Given the description of an element on the screen output the (x, y) to click on. 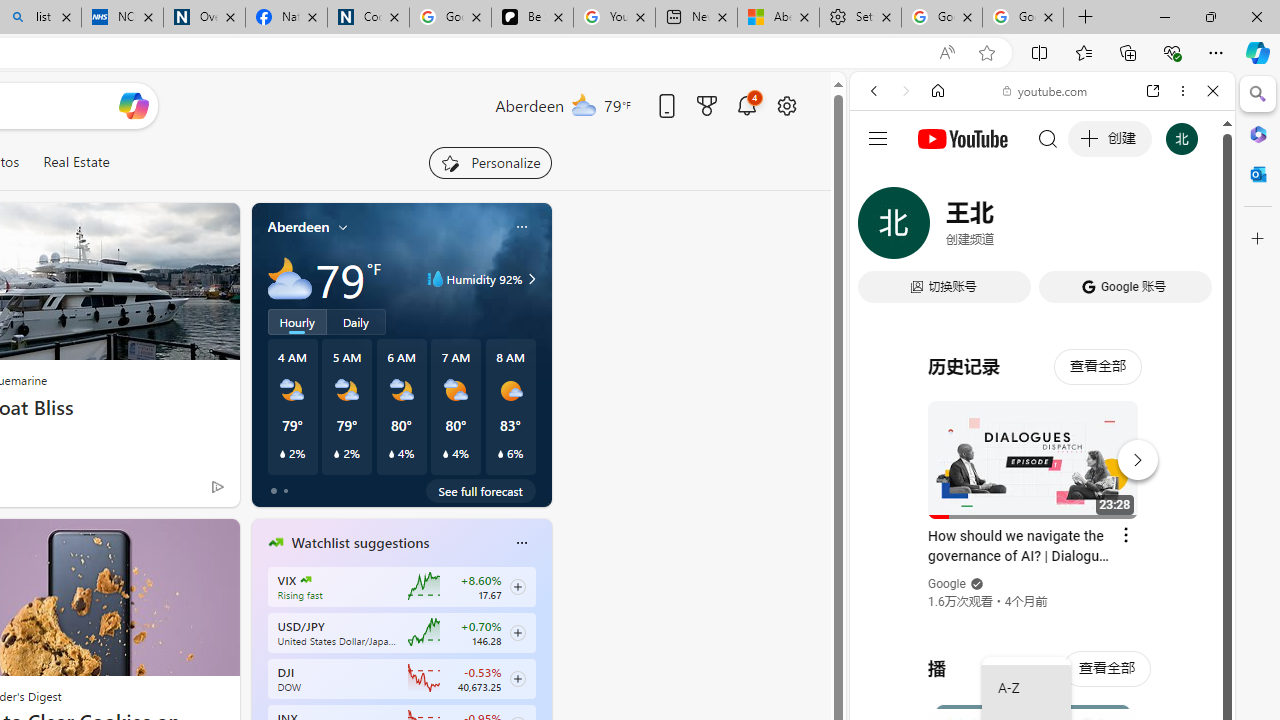
Music (1042, 543)
tab-0 (273, 490)
SEARCH TOOLS (1093, 228)
previous (261, 670)
A-Z (1026, 688)
Google (947, 584)
YouTube (1034, 296)
Trailer #2 [HD] (1042, 594)
Aberdeen (298, 227)
